Given the description of an element on the screen output the (x, y) to click on. 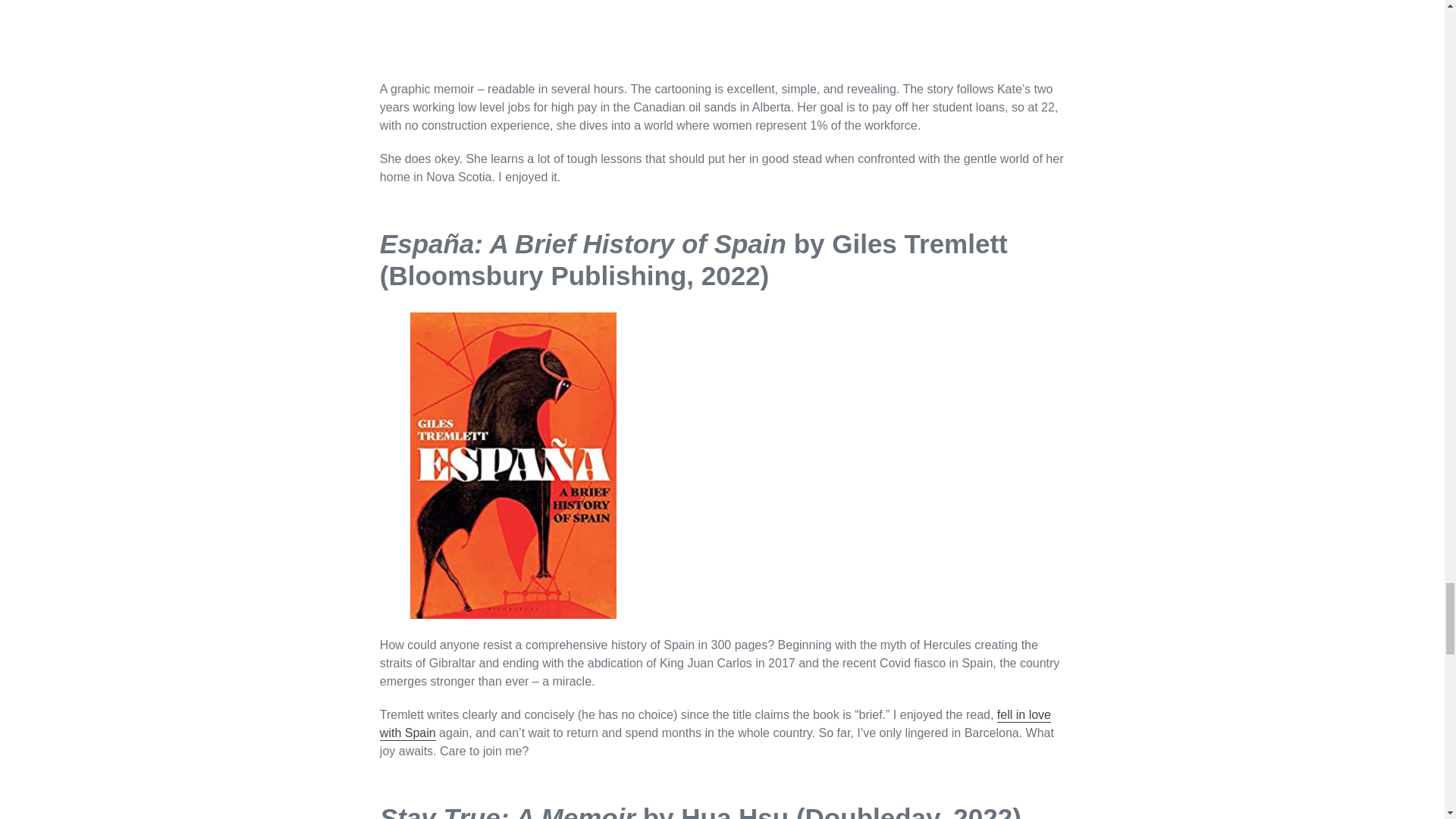
fell in love with Spain (715, 724)
